Given the description of an element on the screen output the (x, y) to click on. 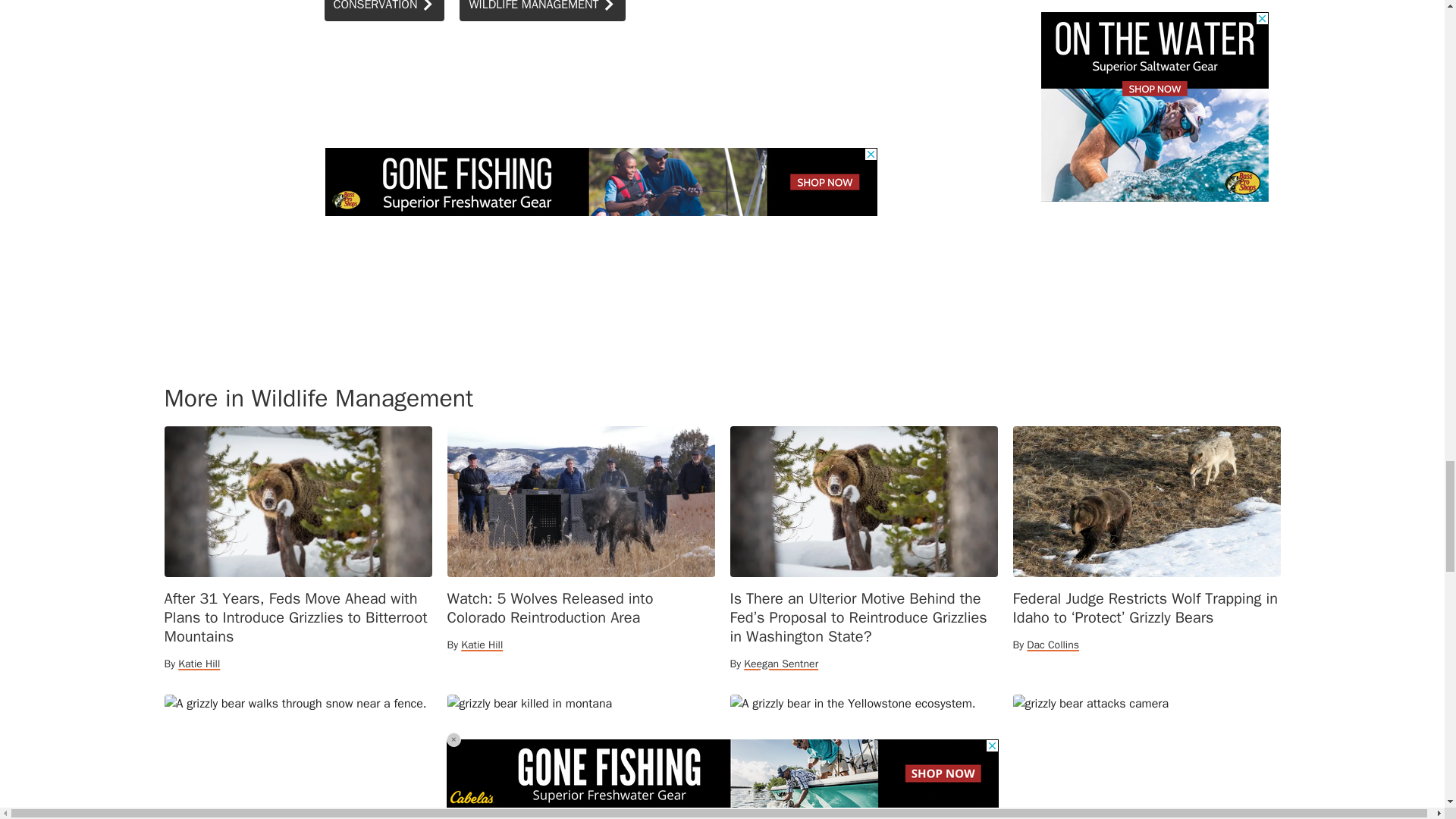
3rd party ad content (600, 182)
